Given the description of an element on the screen output the (x, y) to click on. 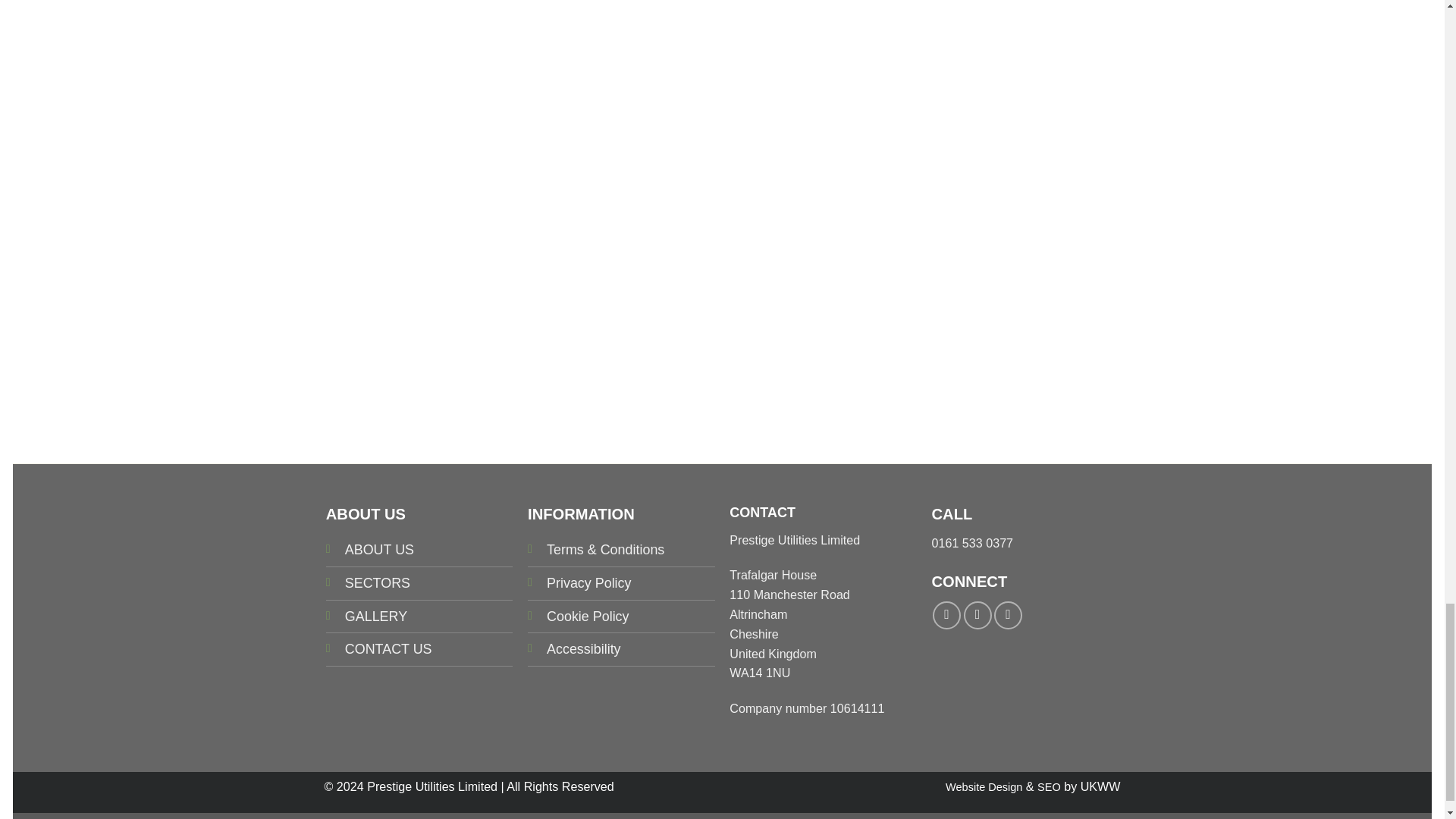
SECTORS (377, 582)
ABOUT US (379, 549)
CONTACT US (388, 648)
Cookie Policy (587, 616)
Accessibility (584, 648)
Privacy Policy (588, 582)
GALLERY (376, 616)
Follow on Instagram (977, 615)
Follow on Facebook (946, 615)
Follow on LinkedIn (1008, 615)
